Given the description of an element on the screen output the (x, y) to click on. 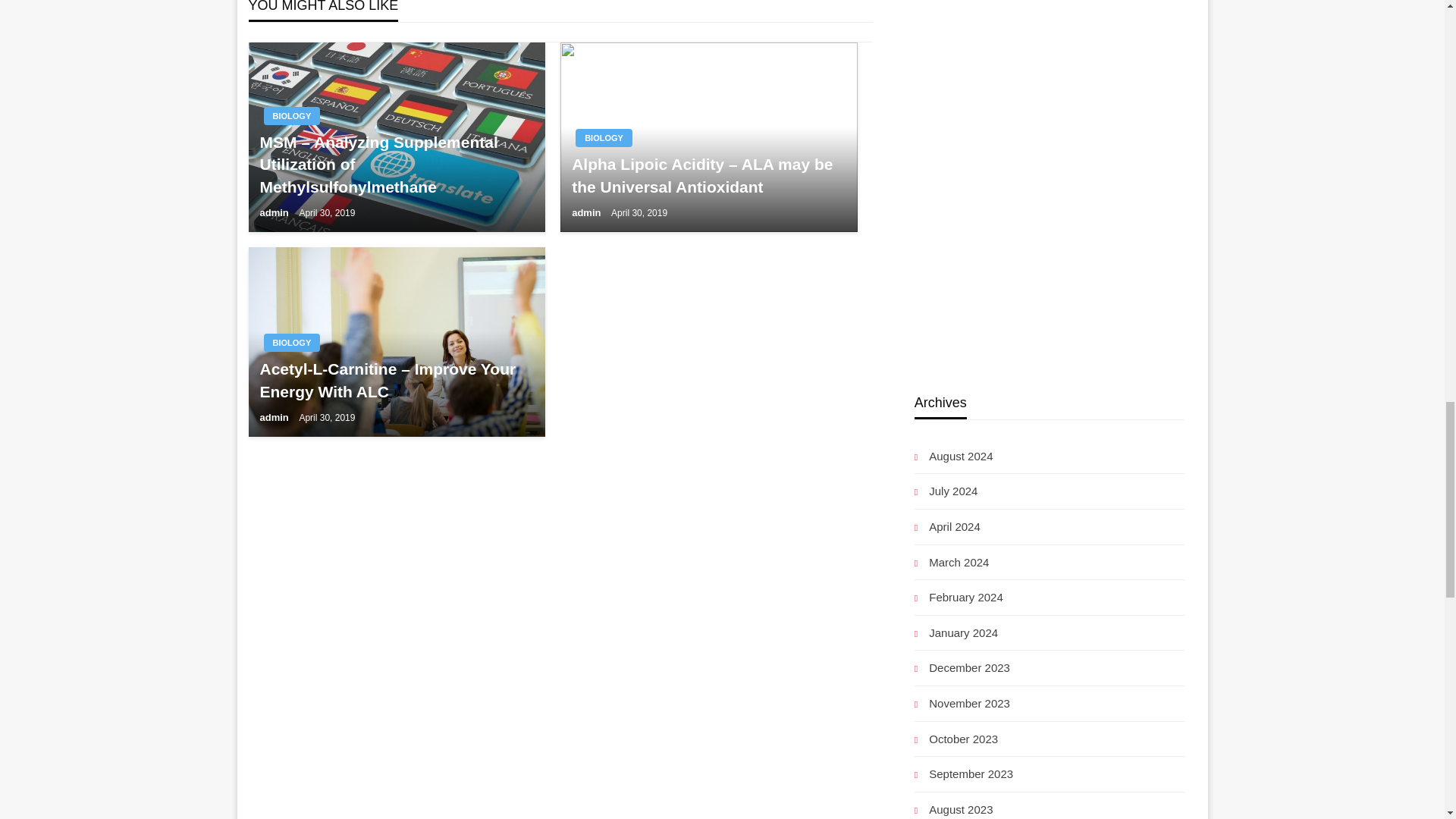
admin (588, 212)
BIOLOGY (603, 137)
BIOLOGY (291, 116)
admin (275, 417)
admin (275, 212)
BIOLOGY (291, 342)
